Given the description of an element on the screen output the (x, y) to click on. 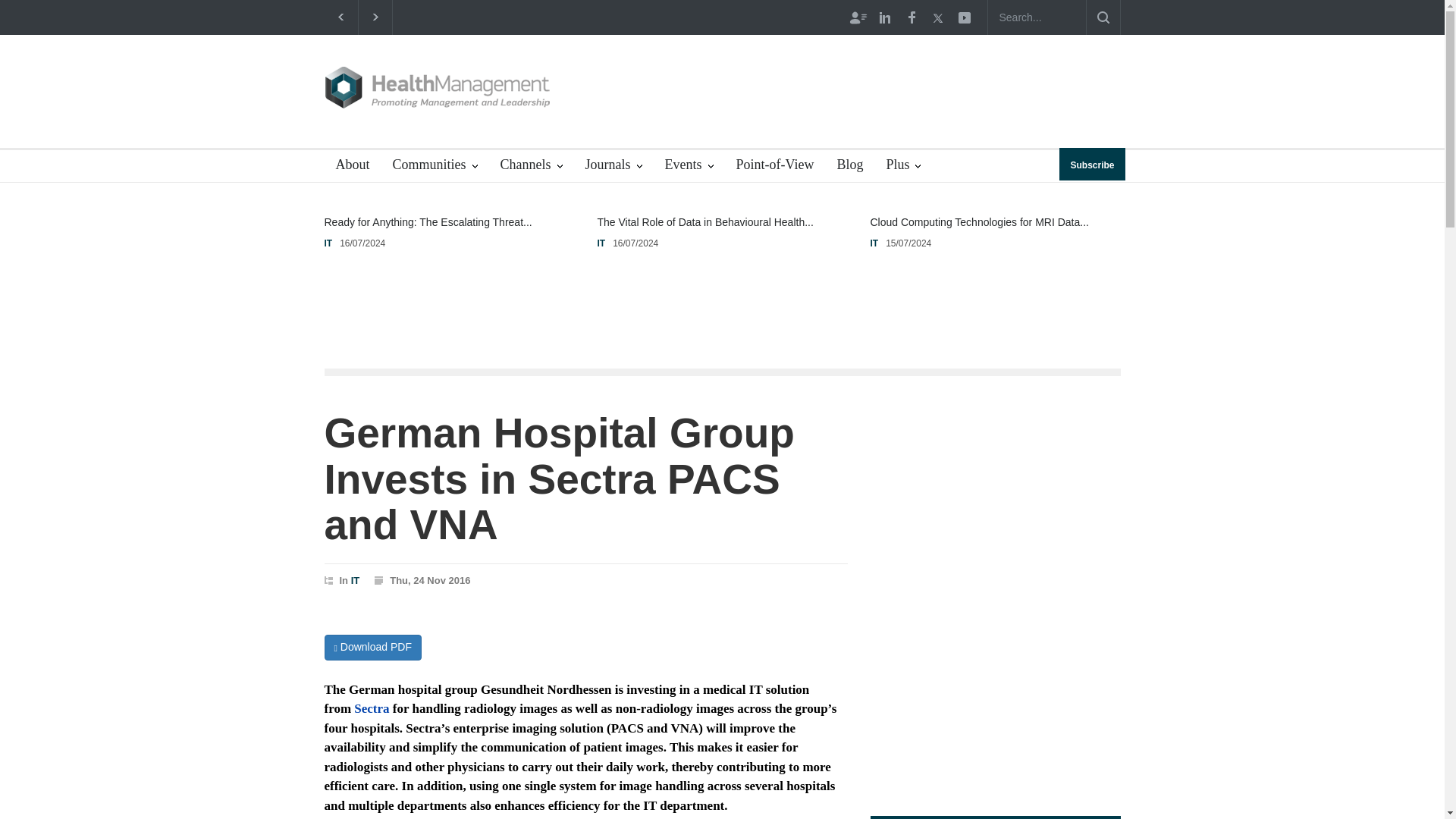
3rd party ad content (845, 90)
facebook (910, 16)
About (346, 165)
Search (1102, 17)
Communities (433, 165)
Journals (613, 165)
right (374, 17)
Communities (433, 165)
Search text (1036, 17)
Channels (531, 165)
HealthManagement.org - The Portal (437, 87)
Events (689, 165)
linkedin (884, 16)
mail (963, 16)
Left (339, 16)
